Given the description of an element on the screen output the (x, y) to click on. 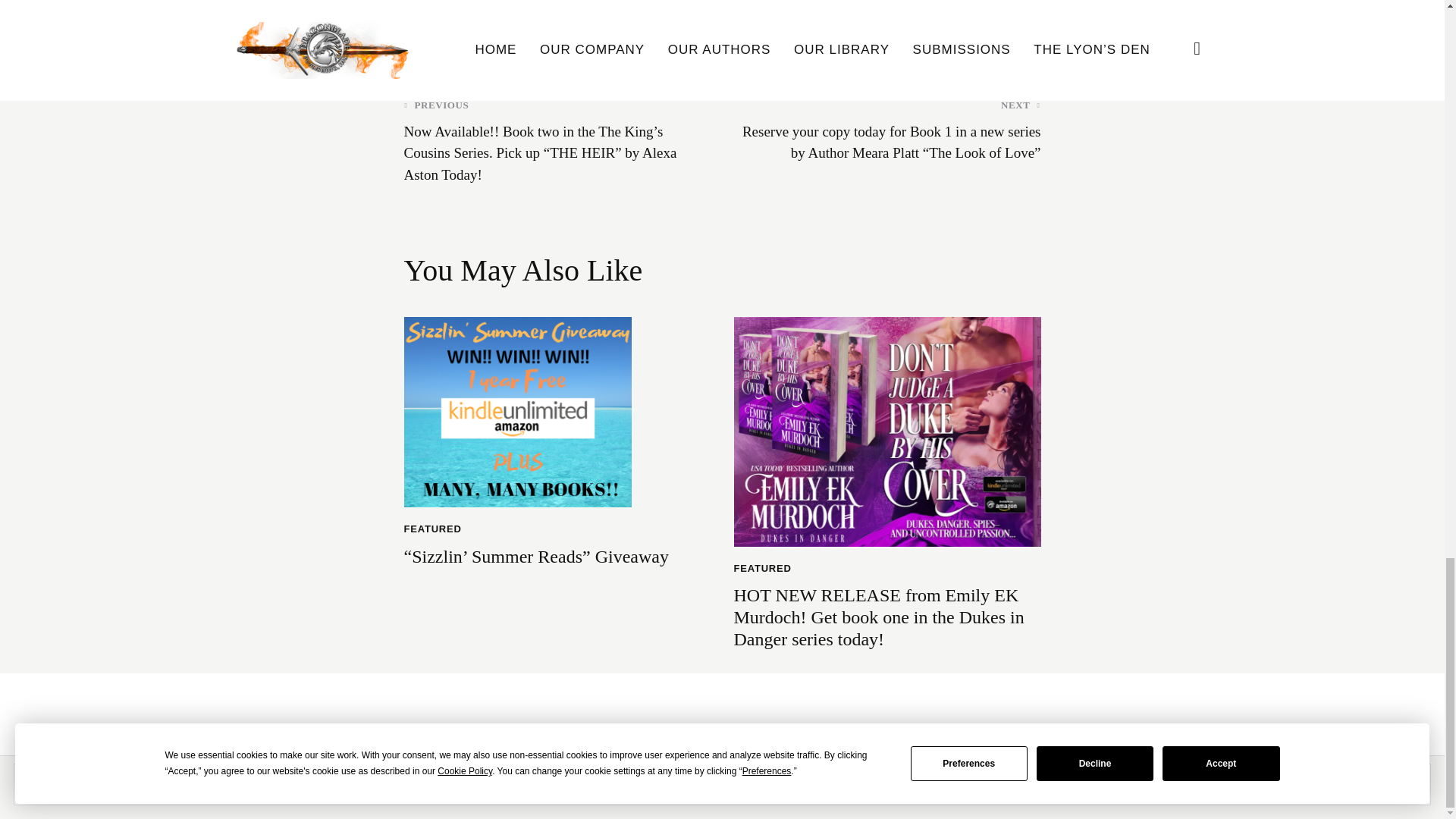
Like (425, 14)
Copy URL to clipboard (1024, 14)
